Given the description of an element on the screen output the (x, y) to click on. 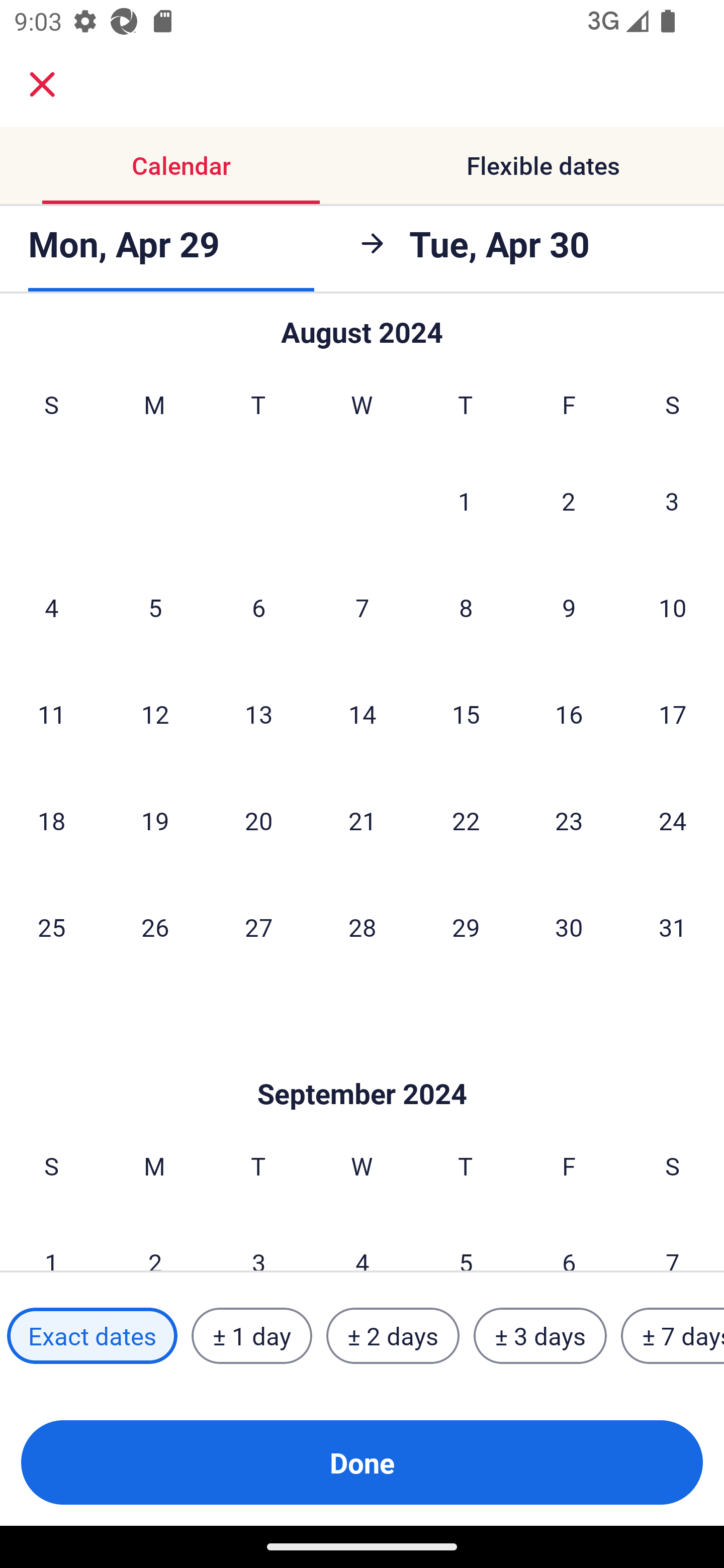
close. (42, 84)
Flexible dates (542, 164)
1 Thursday, August 1, 2024 (464, 500)
2 Friday, August 2, 2024 (568, 500)
3 Saturday, August 3, 2024 (672, 500)
4 Sunday, August 4, 2024 (51, 606)
5 Monday, August 5, 2024 (155, 606)
6 Tuesday, August 6, 2024 (258, 606)
7 Wednesday, August 7, 2024 (362, 606)
8 Thursday, August 8, 2024 (465, 606)
9 Friday, August 9, 2024 (569, 606)
10 Saturday, August 10, 2024 (672, 606)
11 Sunday, August 11, 2024 (51, 713)
12 Monday, August 12, 2024 (155, 713)
13 Tuesday, August 13, 2024 (258, 713)
14 Wednesday, August 14, 2024 (362, 713)
15 Thursday, August 15, 2024 (465, 713)
16 Friday, August 16, 2024 (569, 713)
17 Saturday, August 17, 2024 (672, 713)
18 Sunday, August 18, 2024 (51, 819)
19 Monday, August 19, 2024 (155, 819)
20 Tuesday, August 20, 2024 (258, 819)
21 Wednesday, August 21, 2024 (362, 819)
22 Thursday, August 22, 2024 (465, 819)
23 Friday, August 23, 2024 (569, 819)
24 Saturday, August 24, 2024 (672, 819)
25 Sunday, August 25, 2024 (51, 926)
26 Monday, August 26, 2024 (155, 926)
27 Tuesday, August 27, 2024 (258, 926)
28 Wednesday, August 28, 2024 (362, 926)
29 Thursday, August 29, 2024 (465, 926)
30 Friday, August 30, 2024 (569, 926)
31 Saturday, August 31, 2024 (672, 926)
Skip to Done (362, 1063)
1 Sunday, September 1, 2024 (51, 1240)
2 Monday, September 2, 2024 (155, 1240)
3 Tuesday, September 3, 2024 (258, 1240)
4 Wednesday, September 4, 2024 (362, 1240)
5 Thursday, September 5, 2024 (465, 1240)
6 Friday, September 6, 2024 (569, 1240)
7 Saturday, September 7, 2024 (672, 1240)
Exact dates (92, 1335)
± 1 day (251, 1335)
± 2 days (392, 1335)
± 3 days (539, 1335)
± 7 days (672, 1335)
Done (361, 1462)
